Given the description of an element on the screen output the (x, y) to click on. 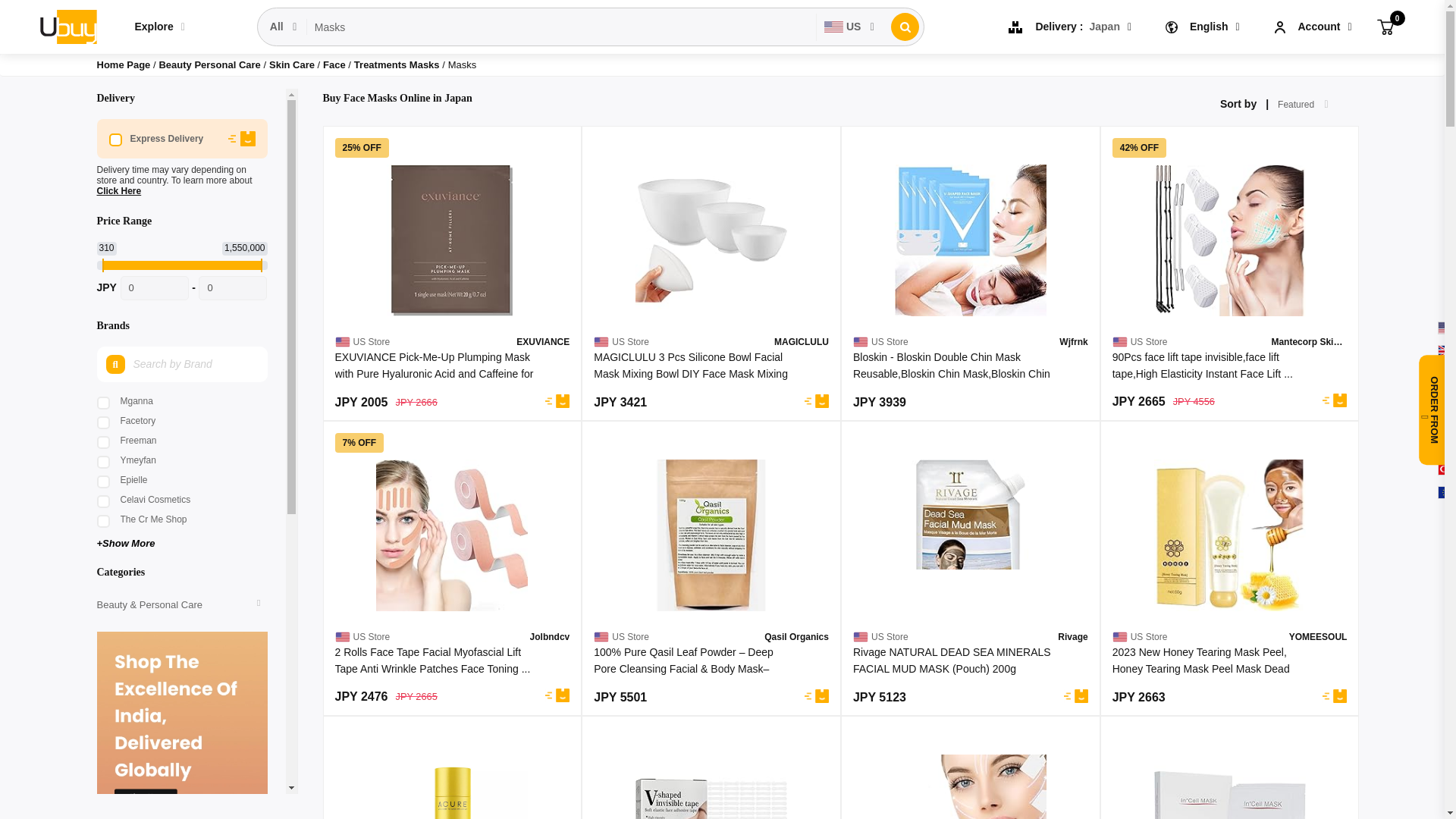
US (849, 26)
Beauty Personal Care (210, 64)
0 (232, 288)
Ubuy (67, 26)
Cart (1385, 26)
0 (154, 288)
All (283, 26)
Home Page (124, 64)
Home Page (124, 64)
0 (1385, 26)
Masks (561, 26)
Masks (561, 26)
